Given the description of an element on the screen output the (x, y) to click on. 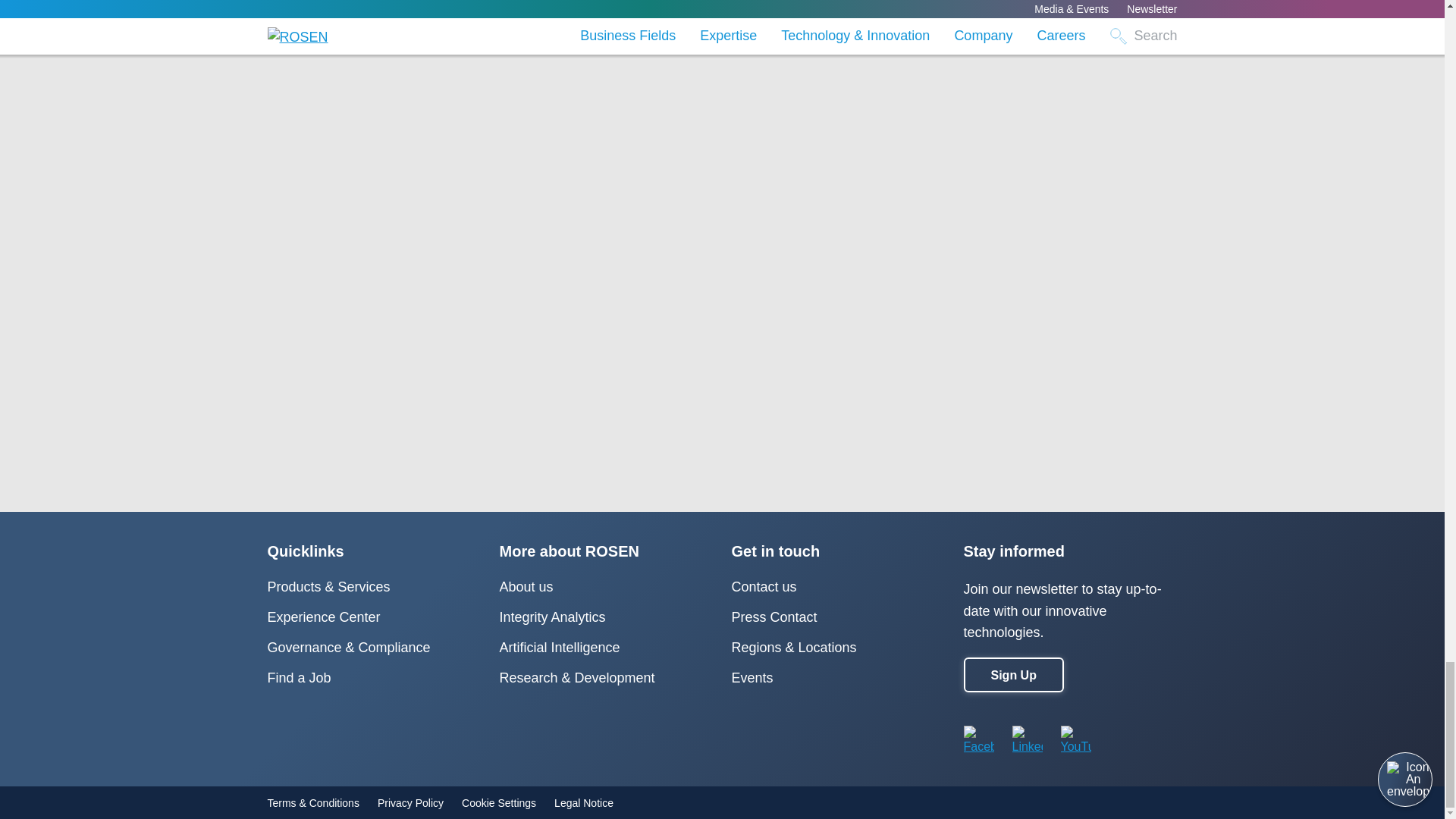
Experience Center (323, 616)
Sign Up (1012, 674)
Find a Job (298, 677)
Events (751, 677)
Artificial Intelligence (559, 647)
Integrity Analytics (552, 616)
About us (526, 586)
Contact us (763, 586)
Press Contact (773, 616)
